Given the description of an element on the screen output the (x, y) to click on. 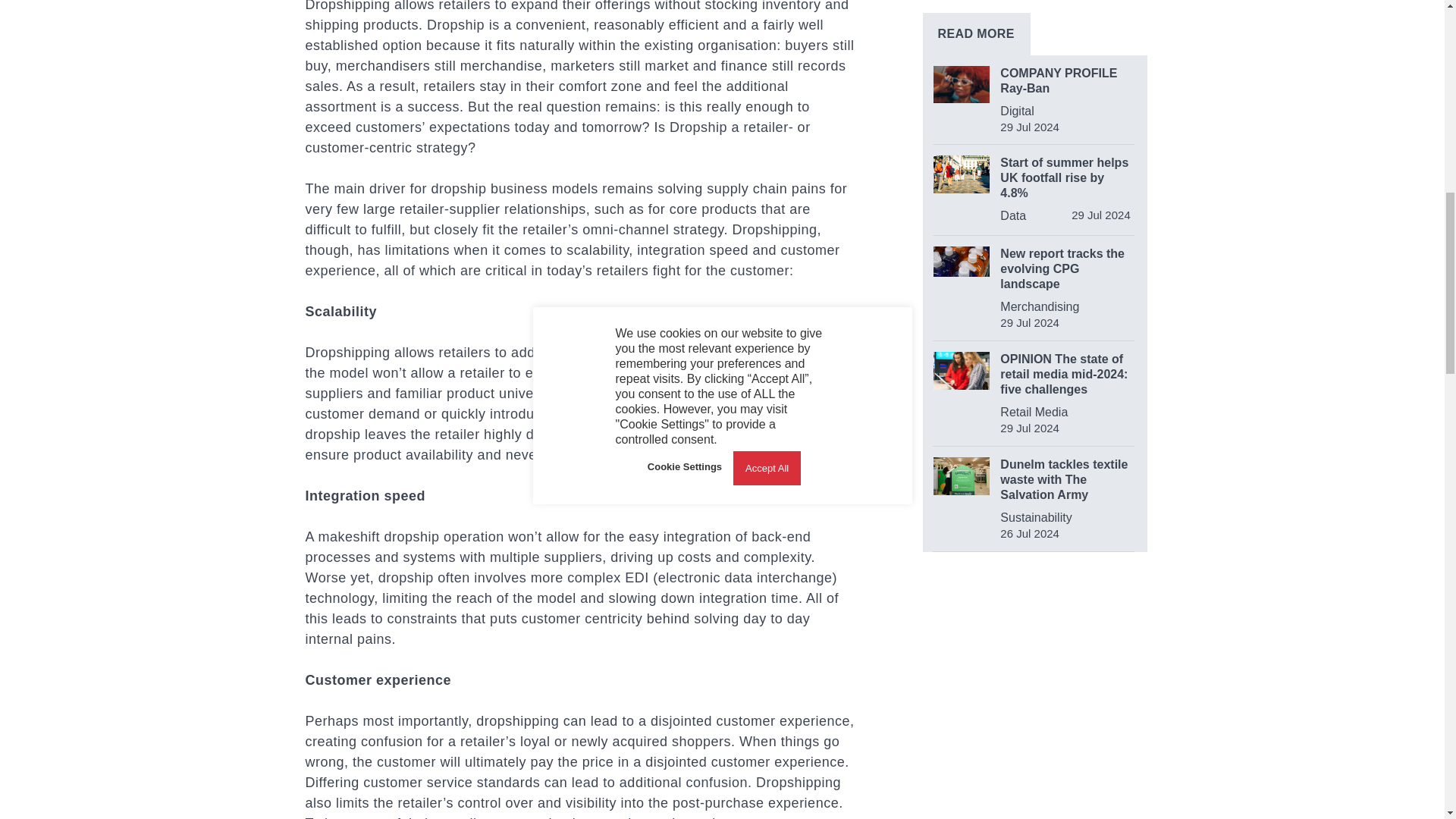
3rd party ad content (1034, 669)
3rd party ad content (1035, 803)
